Given the description of an element on the screen output the (x, y) to click on. 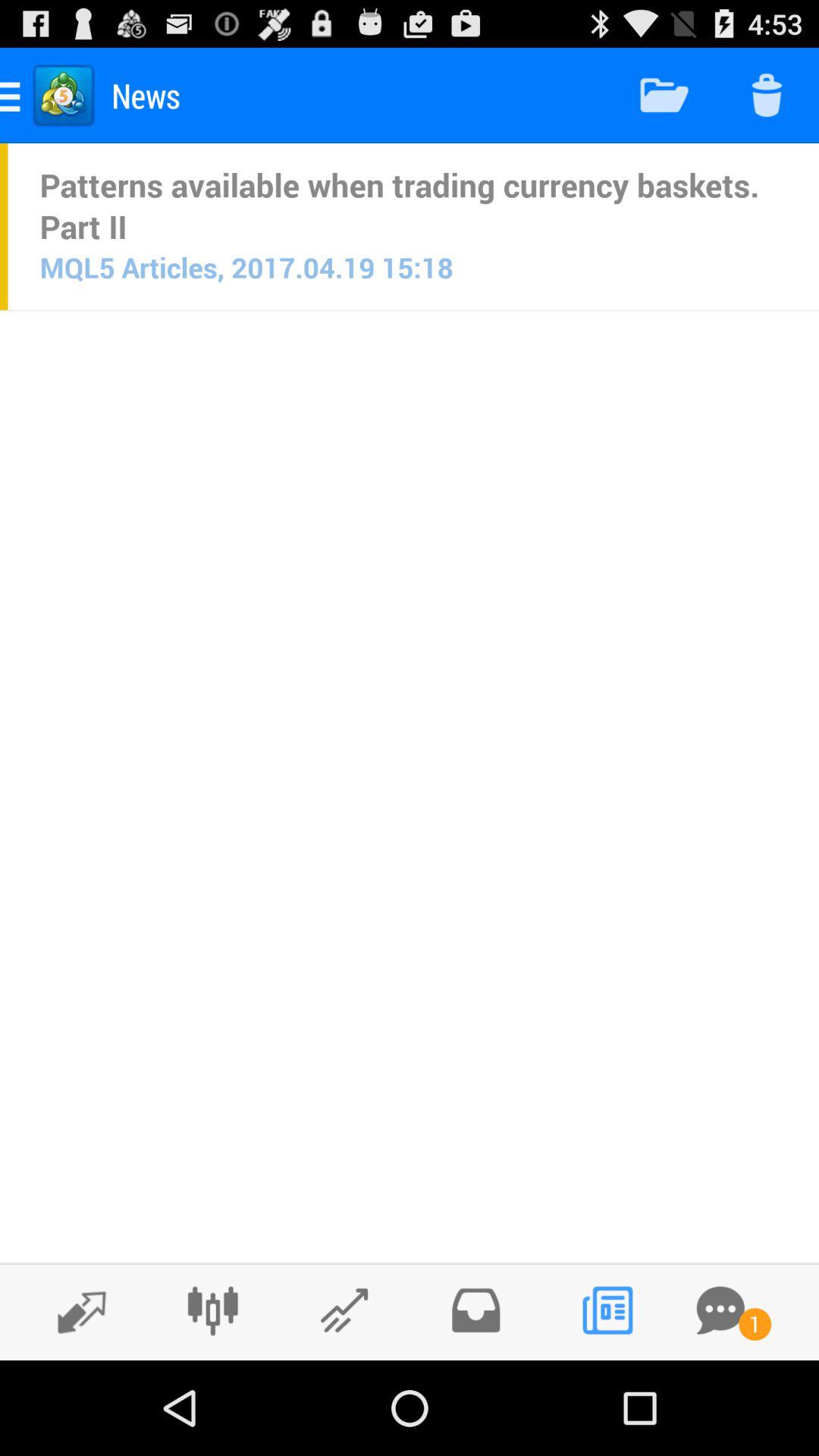
choose the patterns available when icon (413, 205)
